Given the description of an element on the screen output the (x, y) to click on. 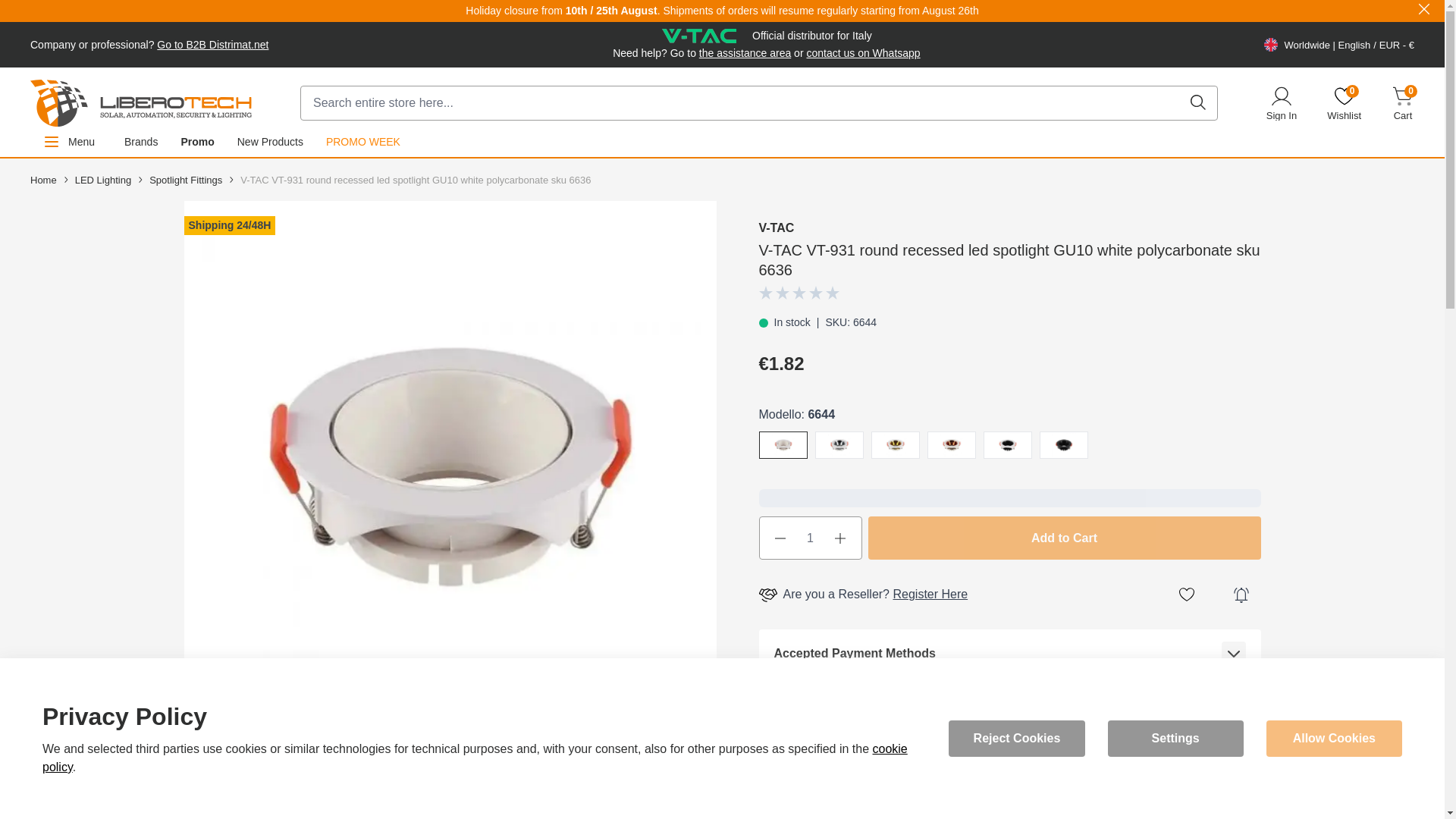
Go to Home Page (43, 179)
contact us on Whatsapp (863, 52)
Sign In (1281, 103)
New Products (1343, 103)
Reject Cookies (269, 141)
